Given the description of an element on the screen output the (x, y) to click on. 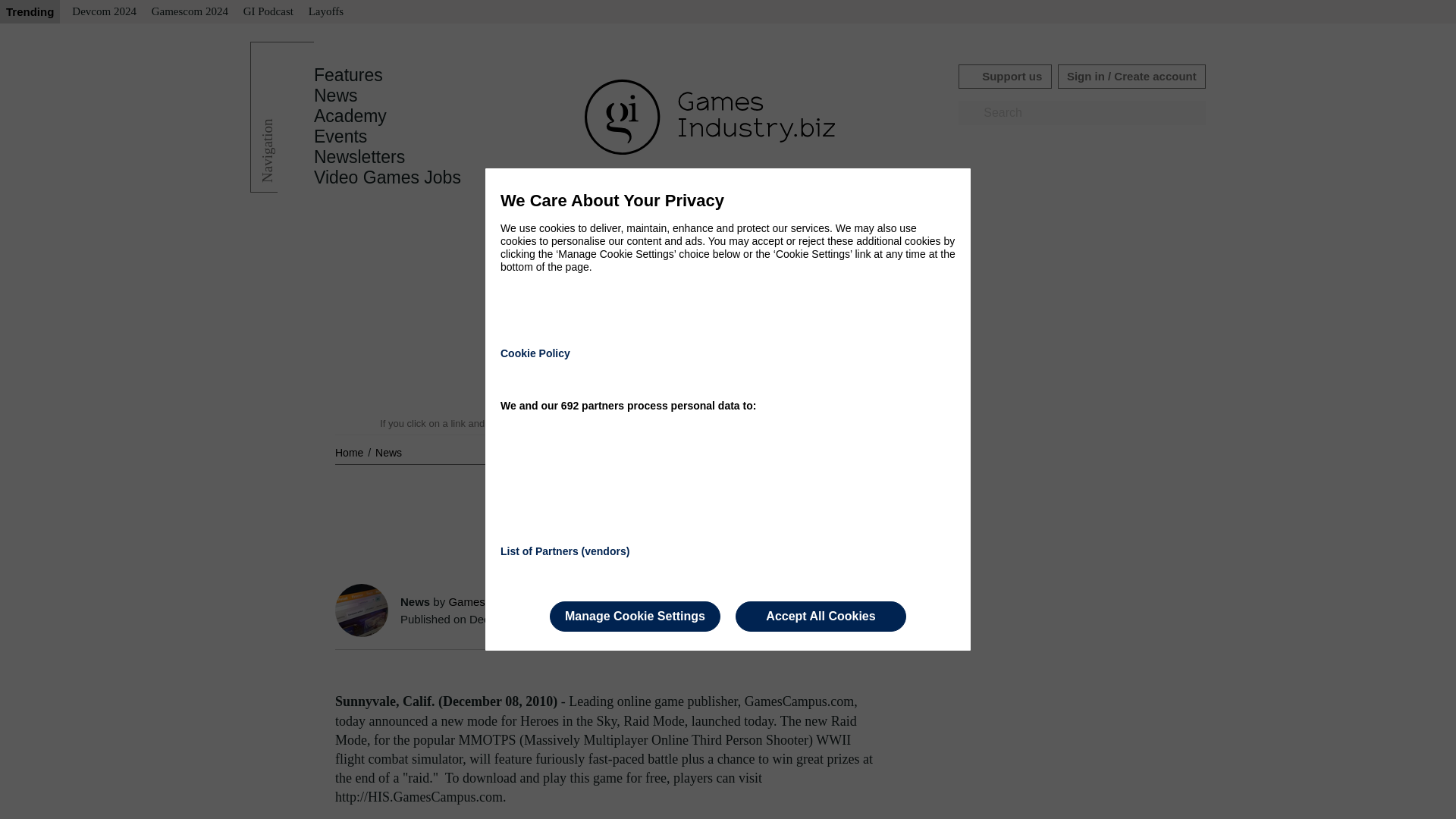
Features (348, 75)
News (388, 452)
Video Games Jobs (387, 177)
Events (340, 136)
Video Games Jobs (387, 177)
News (388, 452)
Academy (350, 116)
Academy (350, 116)
News (336, 95)
Gamescom 2024 (189, 11)
